Given the description of an element on the screen output the (x, y) to click on. 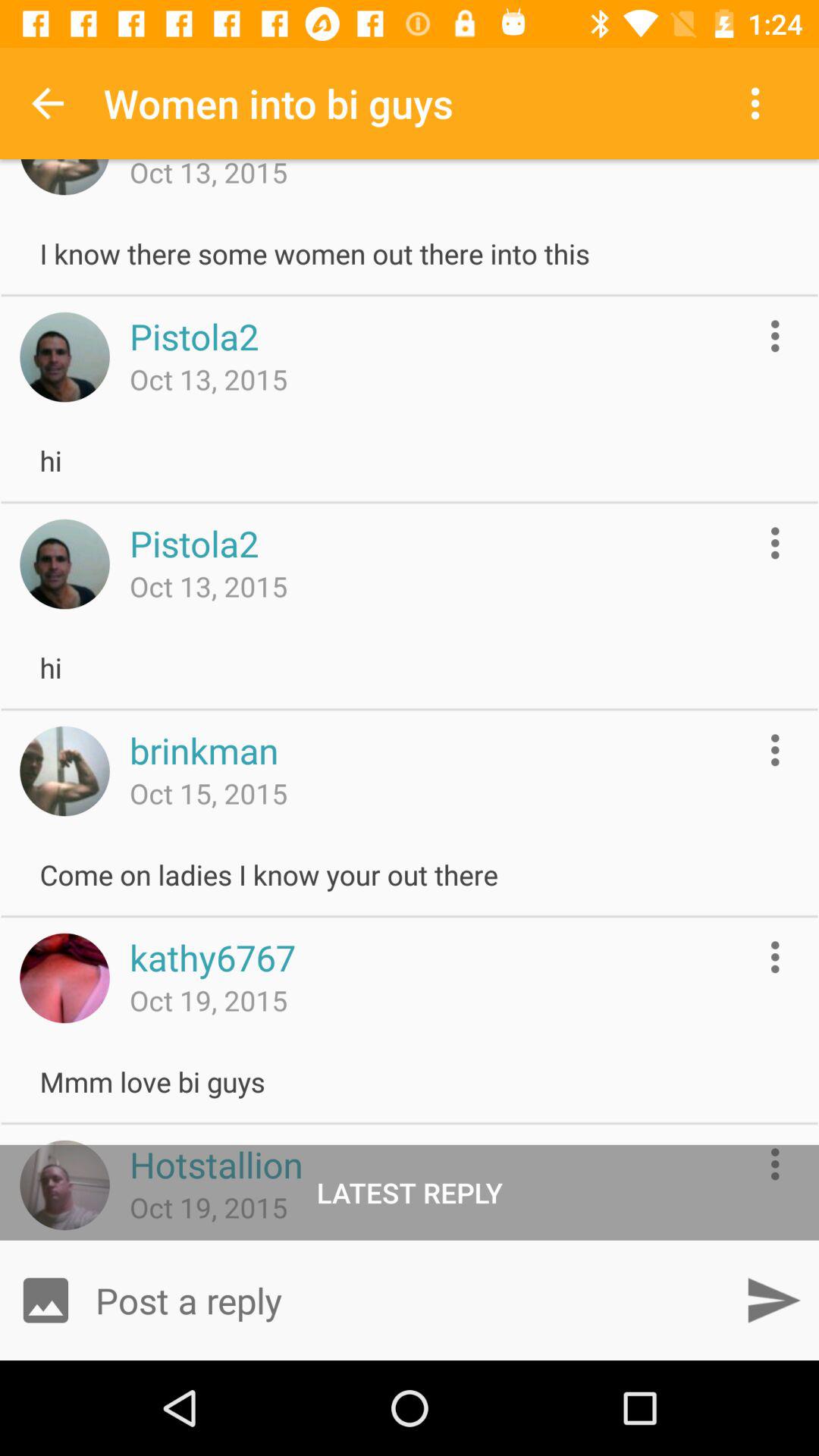
flip to the kathy6767 icon (212, 957)
